Given the description of an element on the screen output the (x, y) to click on. 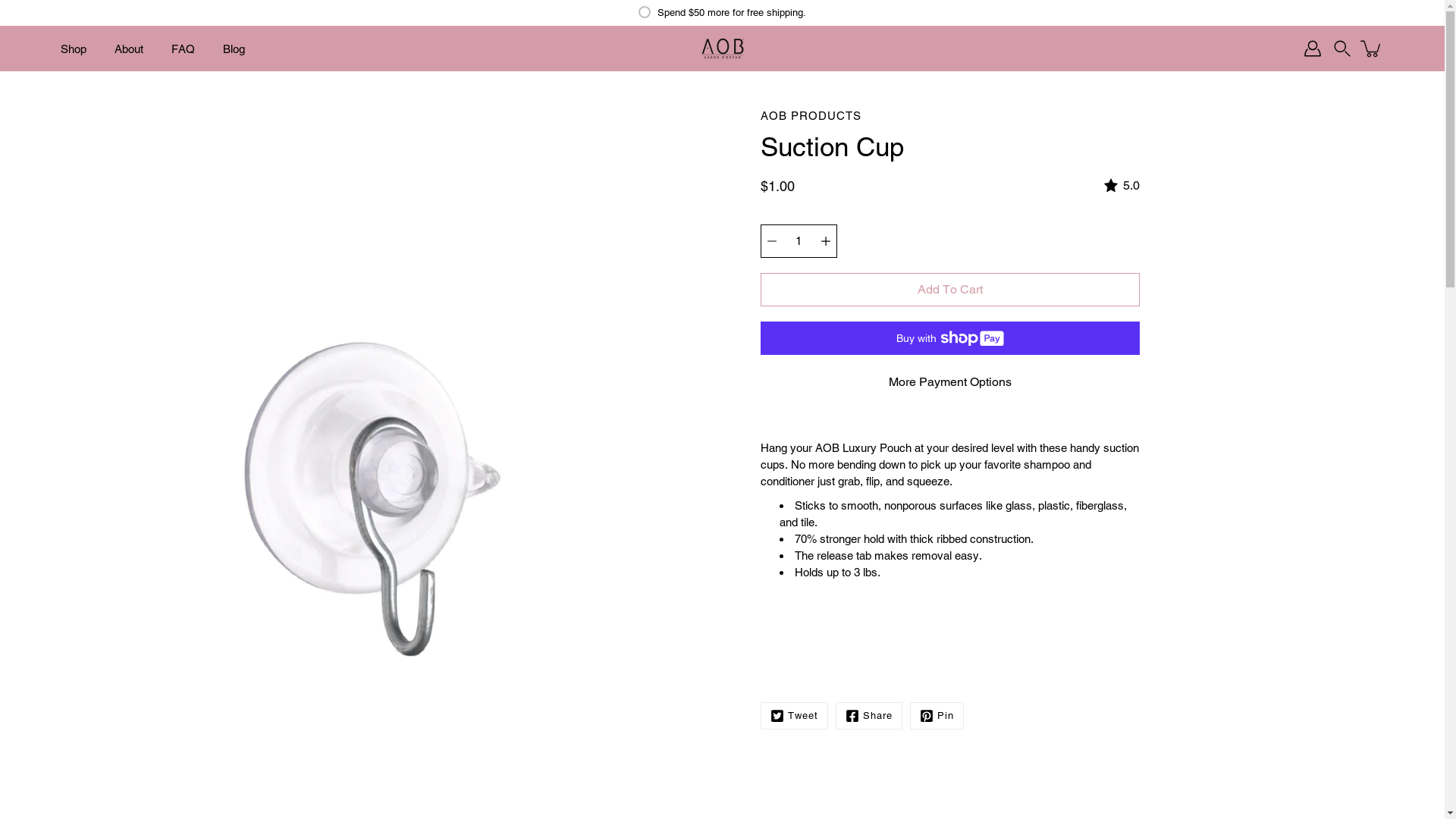
About Element type: text (128, 48)
FAQ Element type: text (182, 48)
Shop Element type: text (73, 48)
Blog Element type: text (233, 48)
Tweet Element type: text (793, 715)
More Payment Options Element type: text (949, 382)
Pin Element type: text (936, 715)
Share Element type: text (868, 715)
Add To Cart Element type: text (949, 289)
